Given the description of an element on the screen output the (x, y) to click on. 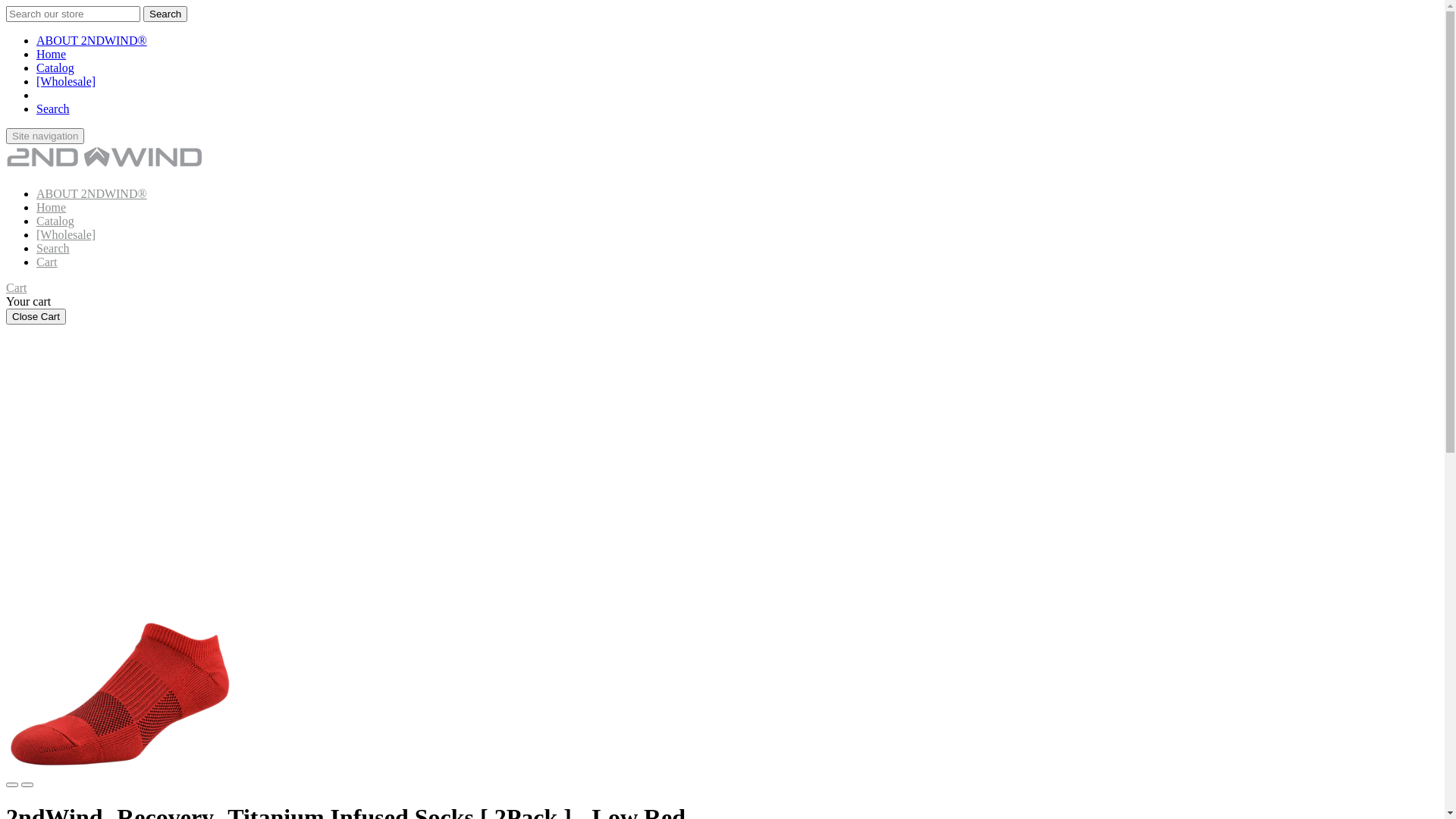
Search Element type: text (52, 247)
Home Element type: text (50, 206)
Home Element type: text (50, 53)
Close Cart Element type: text (35, 316)
Cart Element type: text (16, 287)
Search Element type: text (165, 13)
Cart Element type: text (46, 261)
Search Element type: text (52, 108)
Catalog Element type: text (55, 220)
Site navigation Element type: text (45, 136)
Catalog Element type: text (55, 67)
[Wholesale] Element type: text (65, 81)
[Wholesale] Element type: text (65, 234)
